Given the description of an element on the screen output the (x, y) to click on. 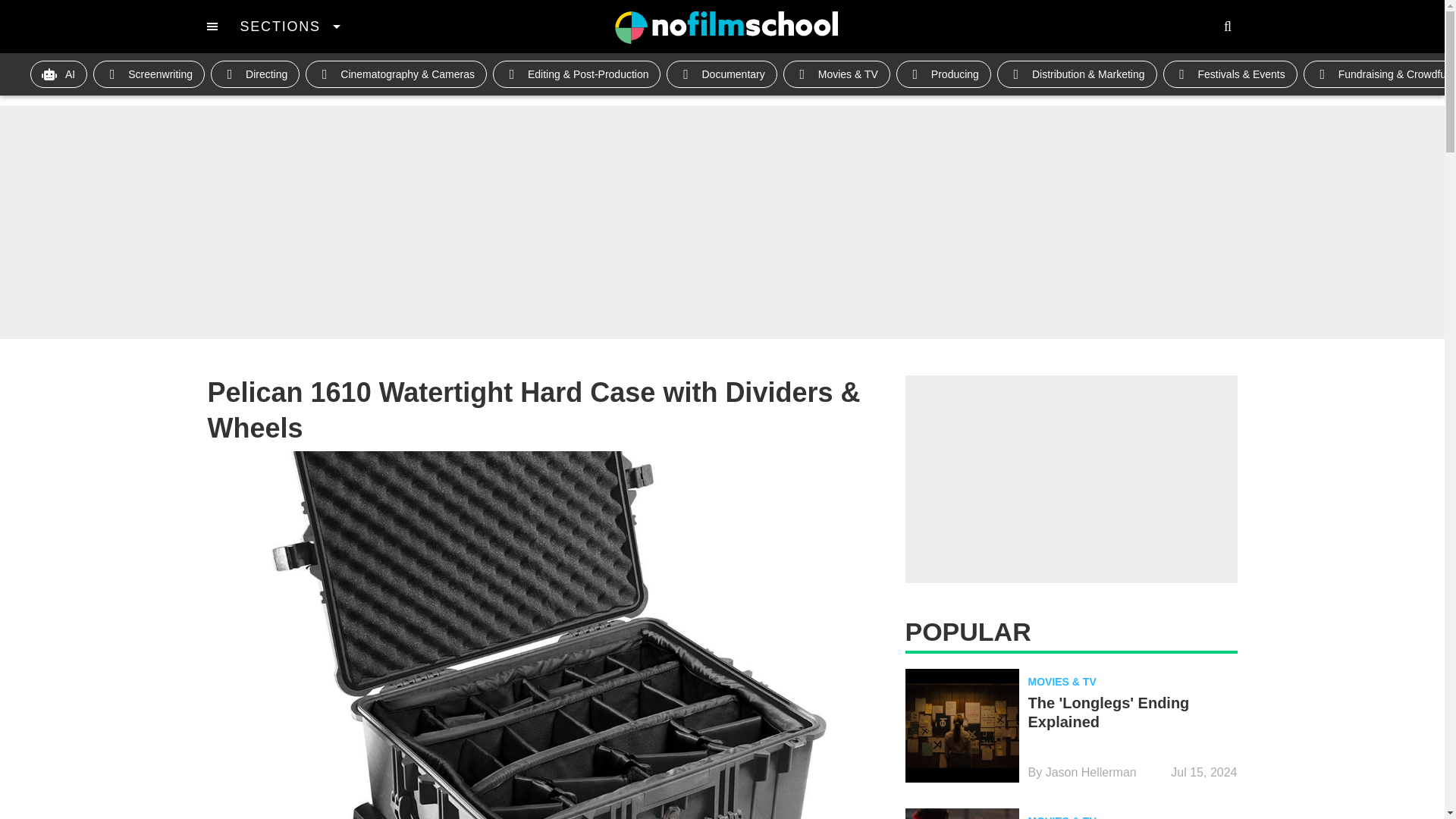
NO FILM SCHOOL (725, 27)
AI (58, 73)
Documentary (721, 73)
Producing (943, 73)
Directing (255, 73)
SECTIONS (289, 26)
NO FILM SCHOOL (725, 27)
Screenwriting (149, 73)
